Given the description of an element on the screen output the (x, y) to click on. 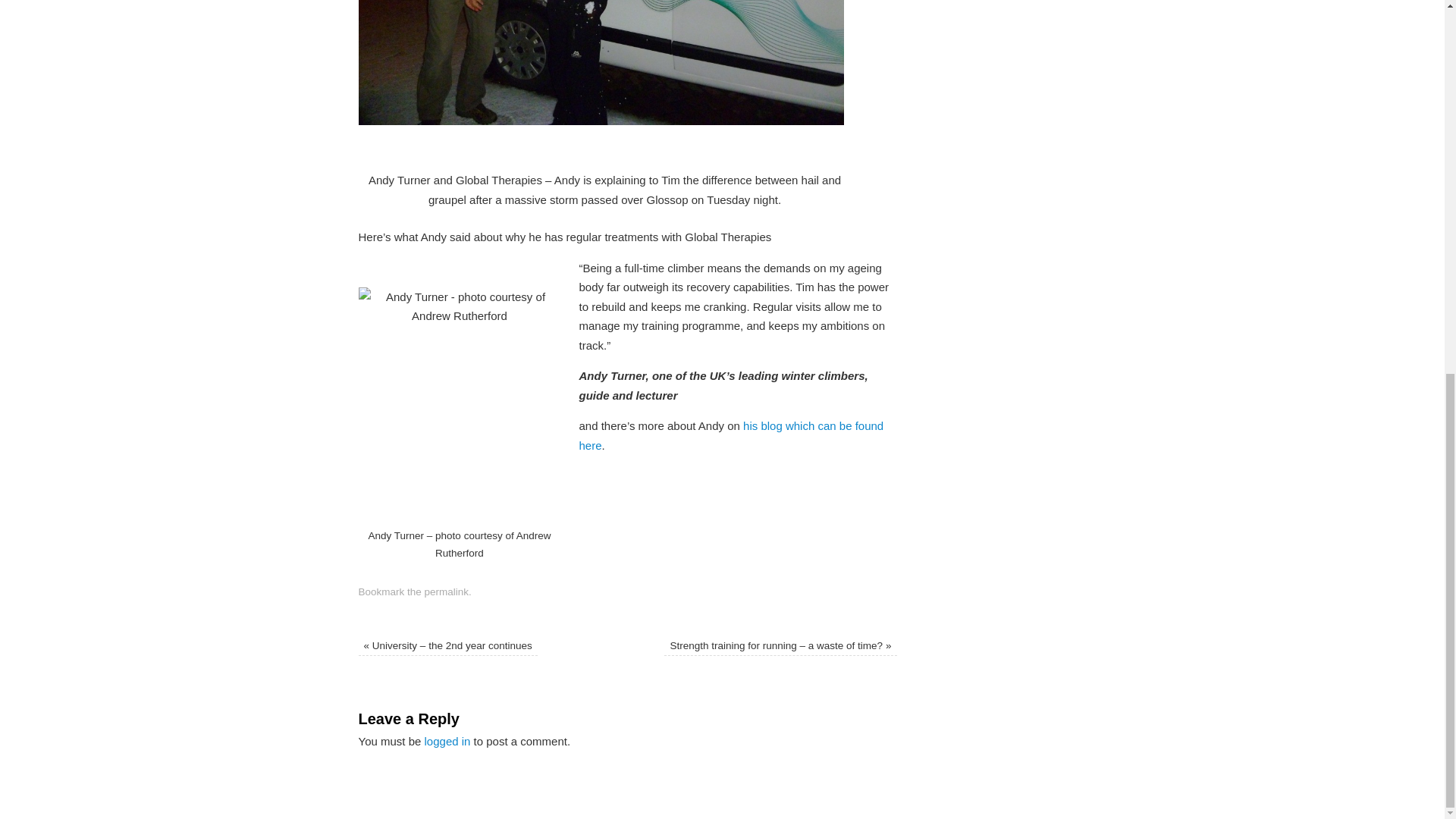
Permalink to Olympic Dreams for Andy Turner and Ice Climbing (446, 591)
